Given the description of an element on the screen output the (x, y) to click on. 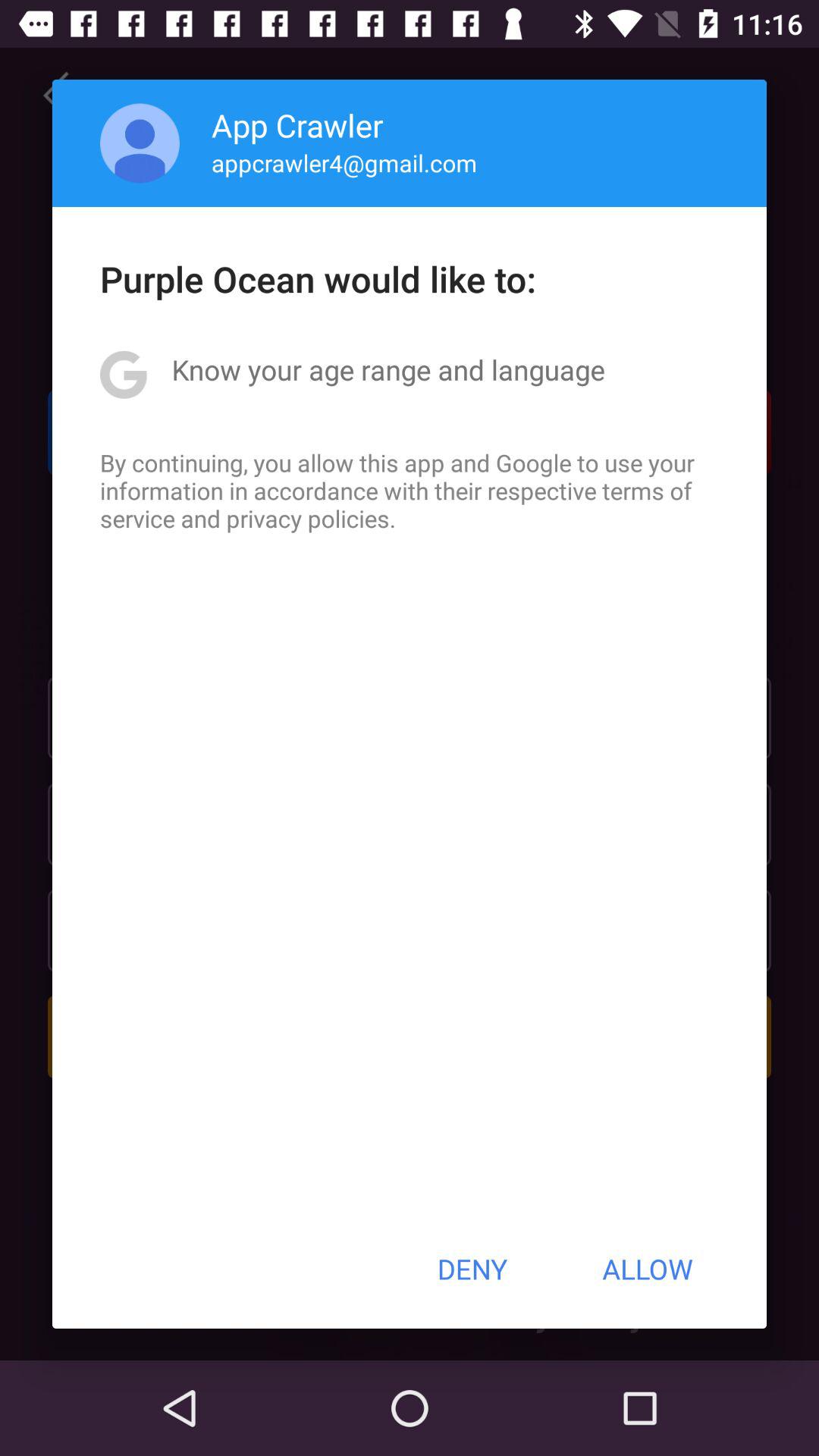
open the item next to app crawler (139, 143)
